Given the description of an element on the screen output the (x, y) to click on. 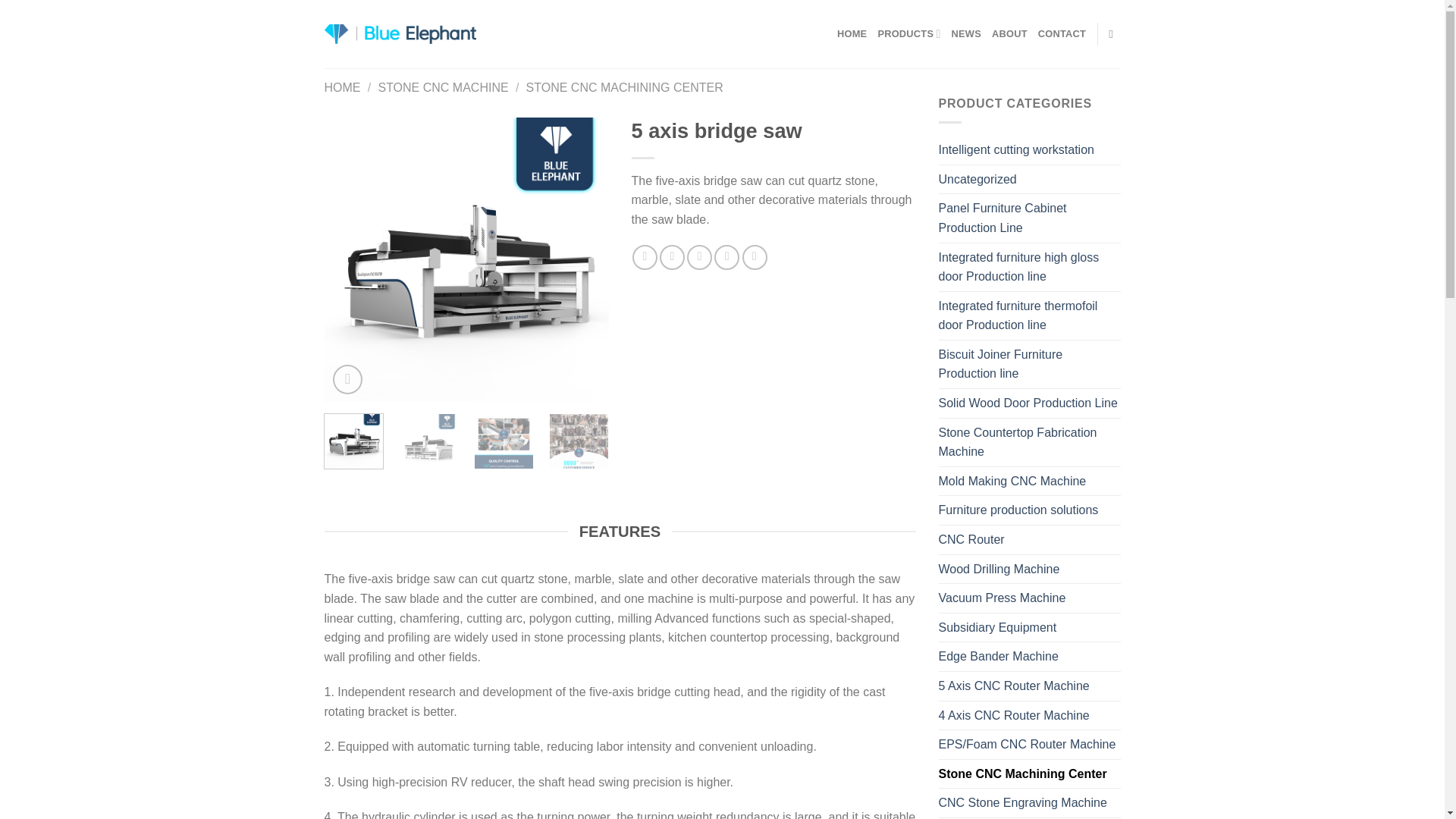
NEWS (966, 33)
Blue Elephant CNC (400, 34)
HOME (342, 87)
ABOUT (1009, 33)
Five-axis bridge saw01 (466, 259)
HOME (851, 33)
CONTACT (1062, 33)
STONE CNC MACHINE (442, 87)
PRODUCTS (908, 33)
